Given the description of an element on the screen output the (x, y) to click on. 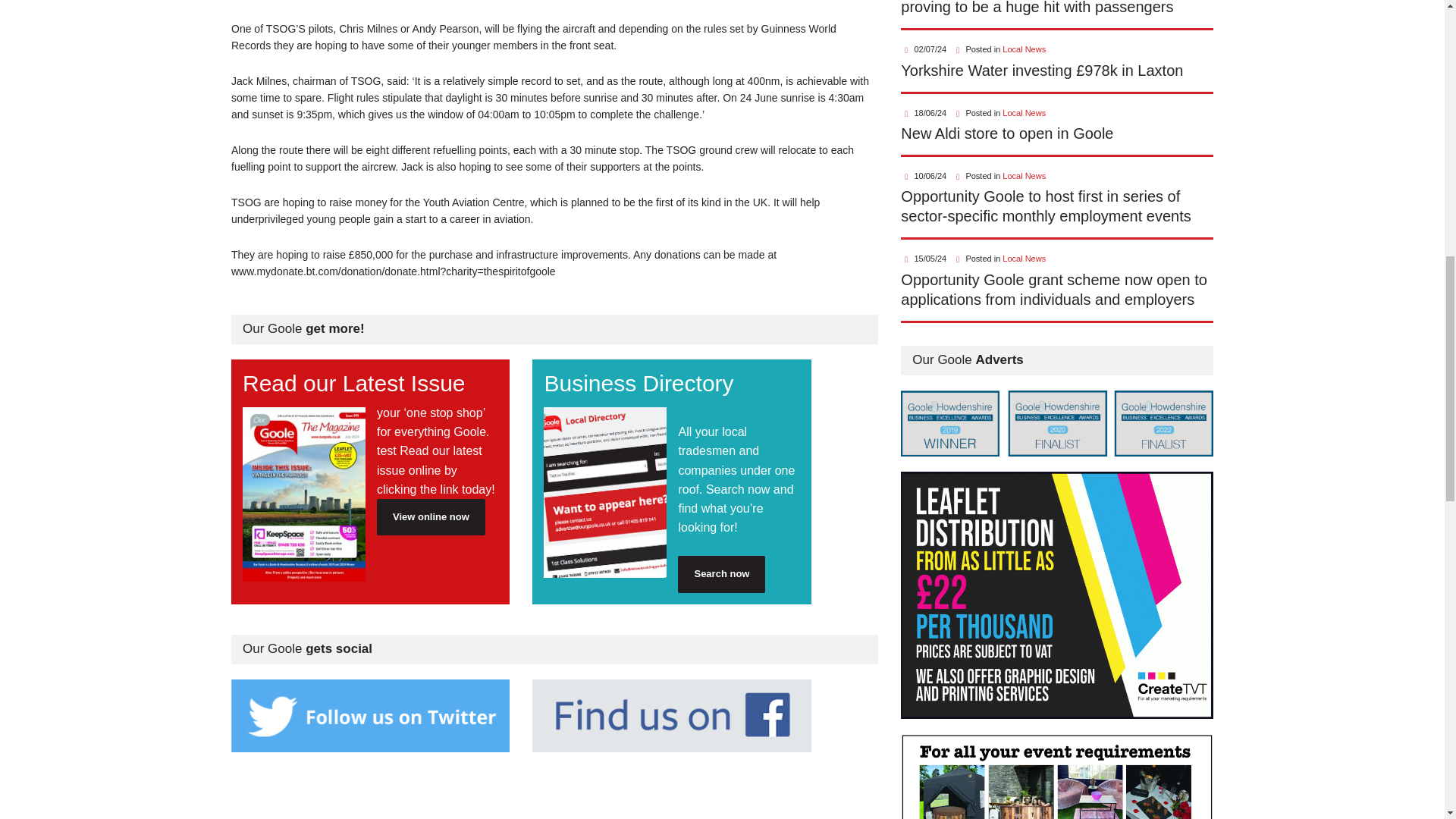
View online now (430, 516)
Ask us about our leaflet distribution (1056, 595)
Follow us on Twitter (370, 715)
Search now (721, 574)
Find us and like on Facebook (671, 715)
